Given the description of an element on the screen output the (x, y) to click on. 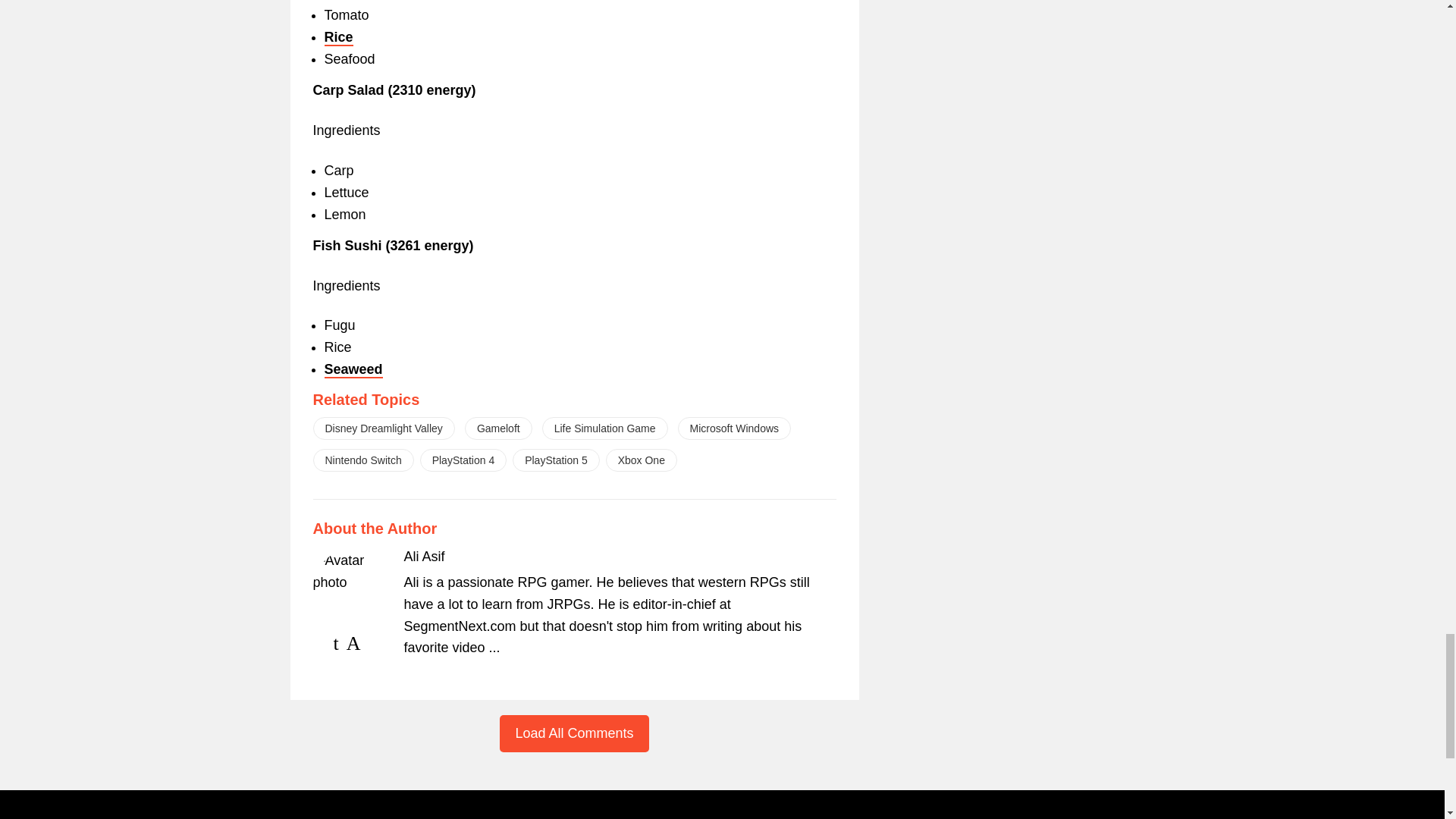
PlayStation 4 (463, 459)
Microsoft Windows (734, 427)
Disney Dreamlight Valley (383, 427)
Gameloft (498, 427)
Ali Asif (423, 556)
Seaweed (353, 369)
Rice (338, 37)
Nintendo Switch (363, 459)
Life Simulation Game (604, 427)
